Given the description of an element on the screen output the (x, y) to click on. 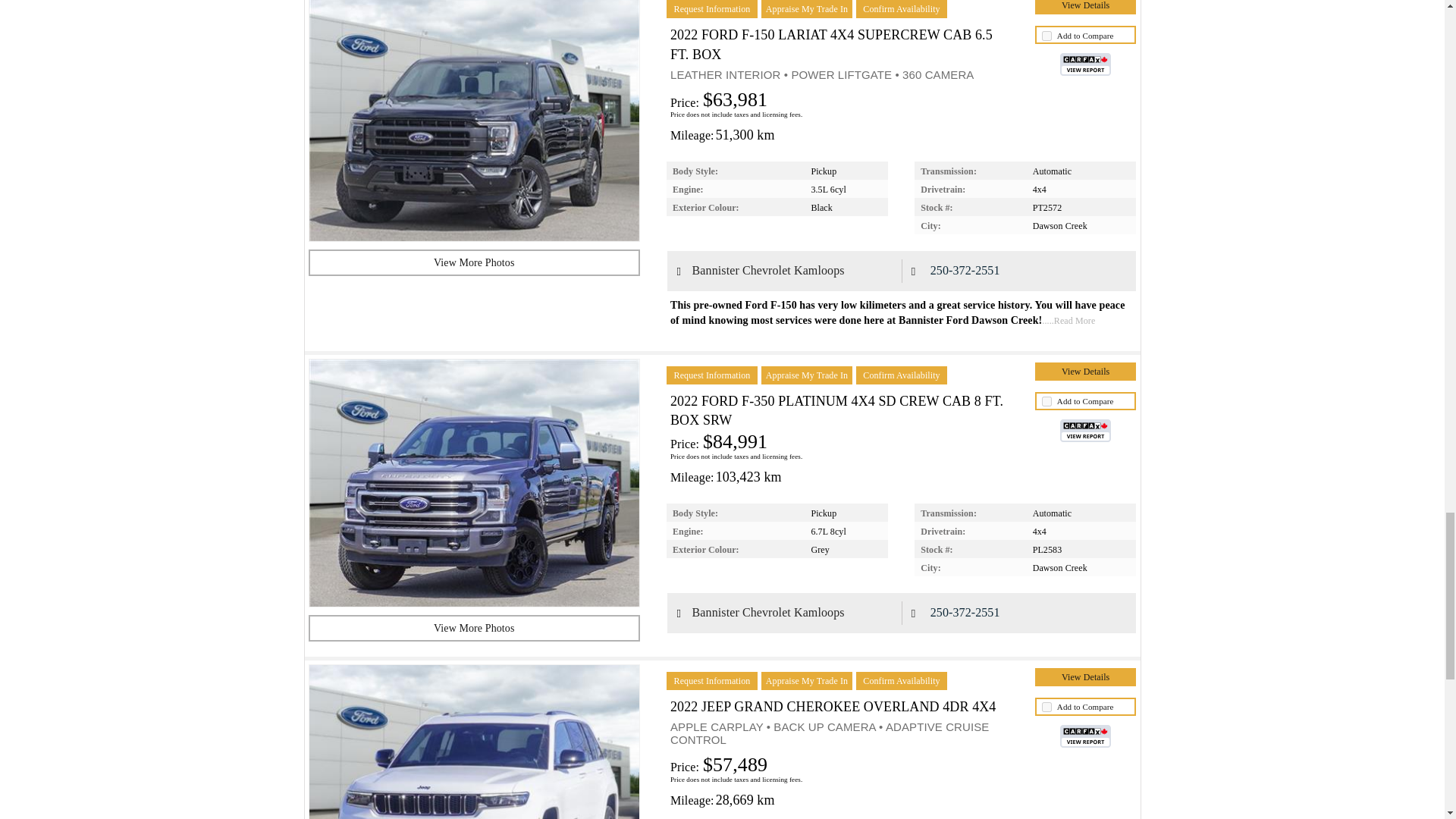
unchecked (1046, 35)
unchecked (1046, 706)
unchecked (1046, 401)
